Given the description of an element on the screen output the (x, y) to click on. 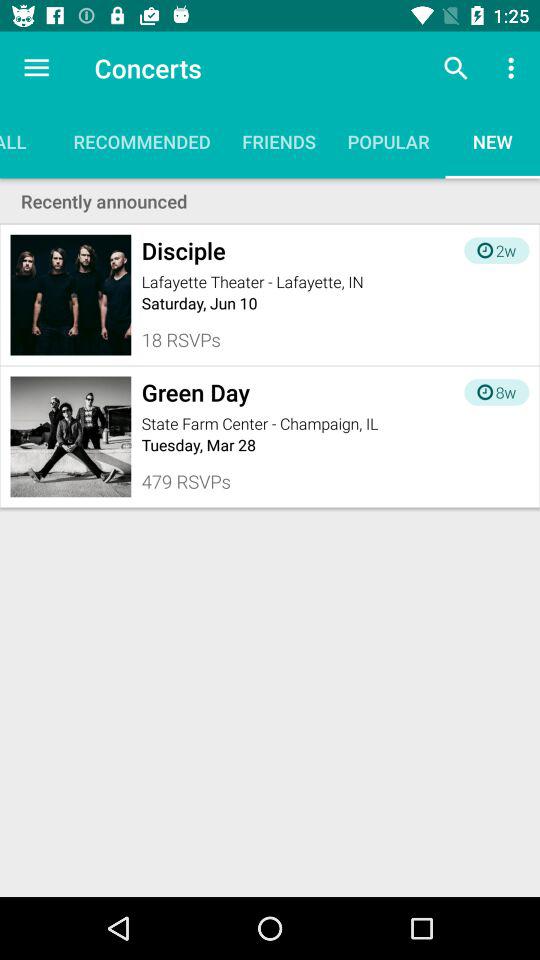
select icon above all (36, 68)
